Given the description of an element on the screen output the (x, y) to click on. 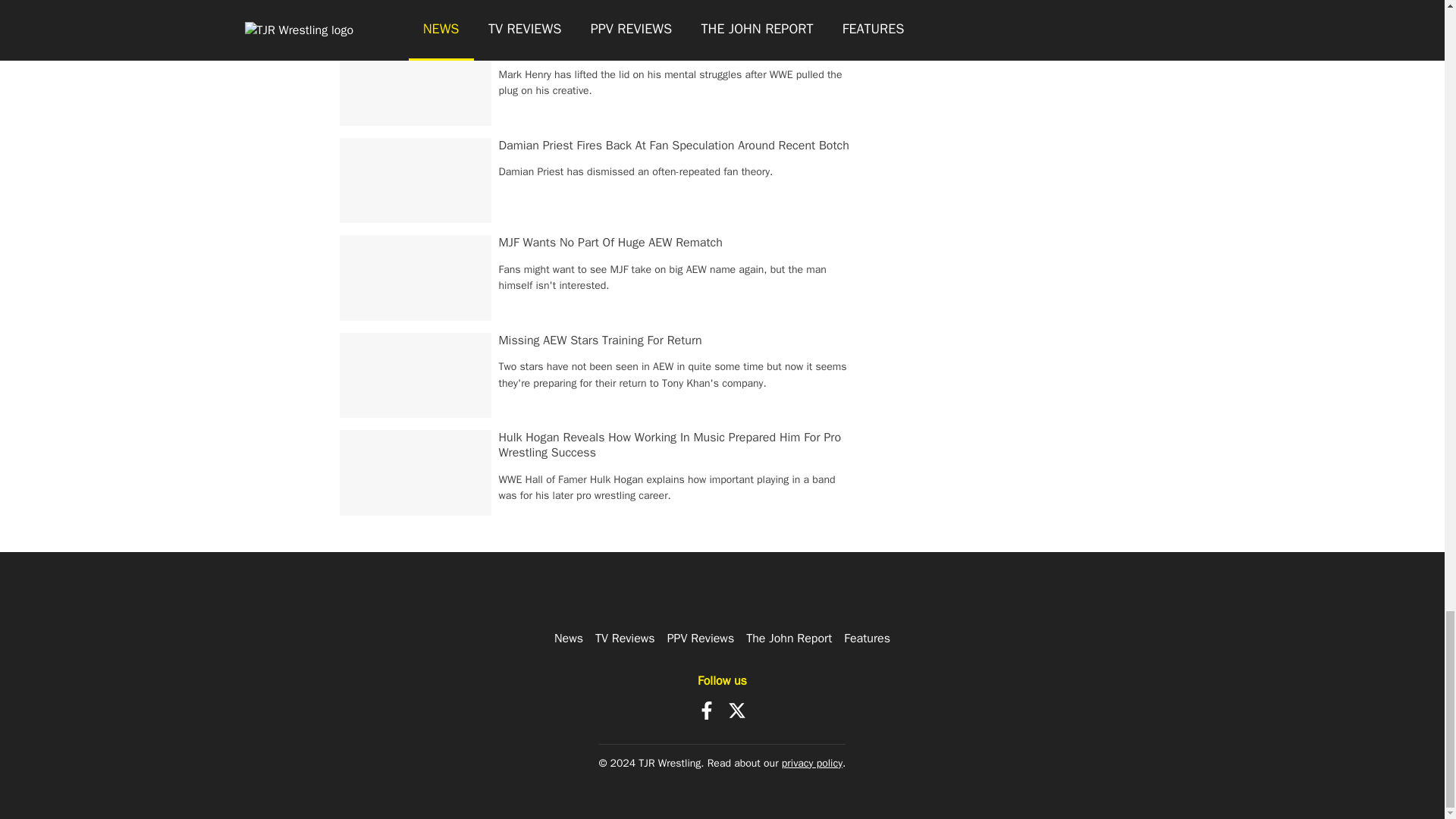
MJF Wants No Part Of Huge AEW Rematch (610, 242)
X (736, 710)
Facebook (706, 710)
Missing AEW Stars Training For Return (600, 340)
Mark Henry Admits WWE Snub Left Him Depressed (633, 47)
